Given the description of an element on the screen output the (x, y) to click on. 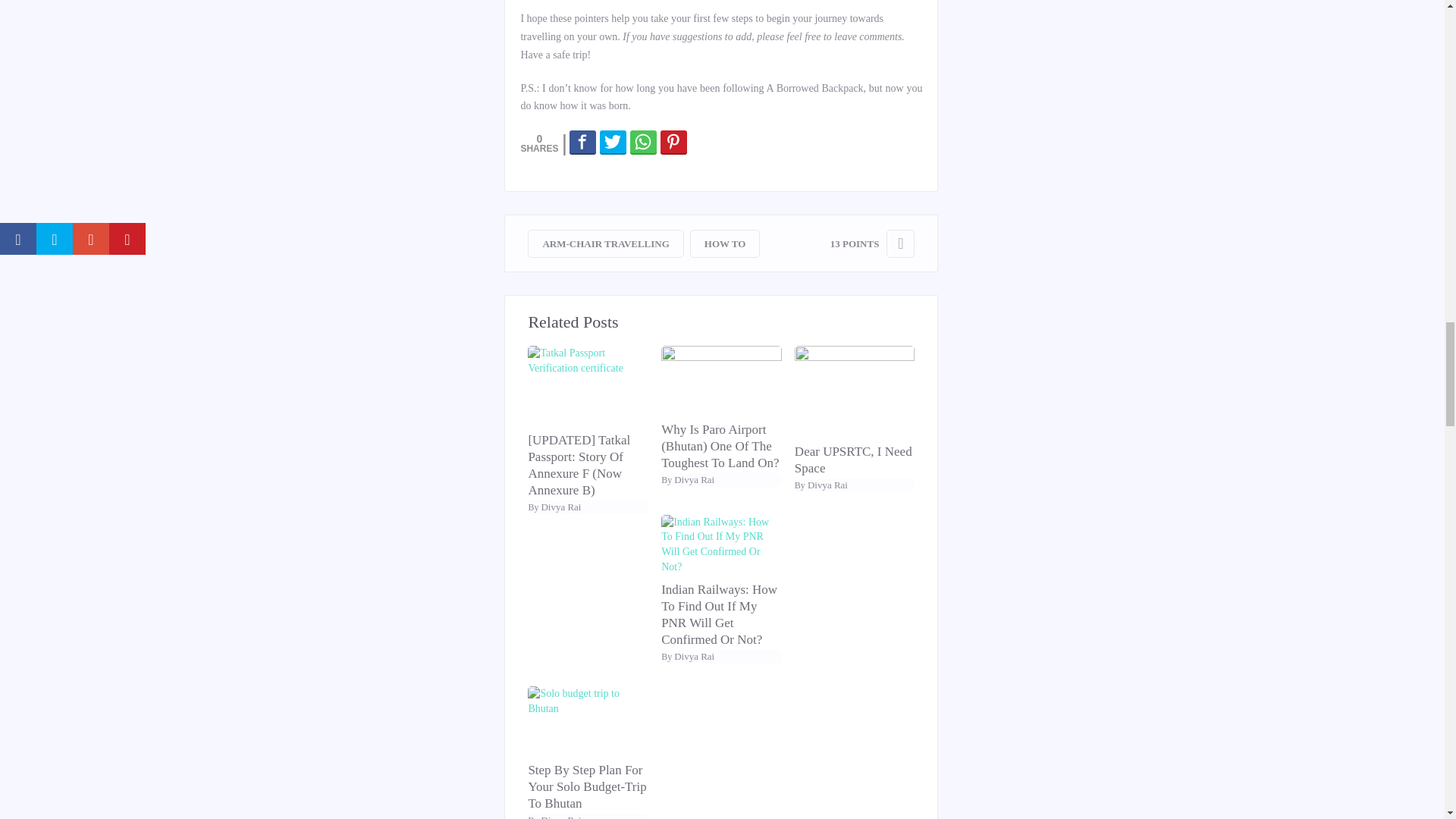
Tweet (612, 141)
Divya Rai (560, 506)
ARM-CHAIR TRAVELLING (604, 243)
Share on Facebook (582, 141)
View all posts in How To (725, 243)
Share on WhatsApp (643, 141)
Share on Pinterest (674, 141)
HOW TO (725, 243)
View all posts in Arm-Chair Travelling (604, 243)
